Given the description of an element on the screen output the (x, y) to click on. 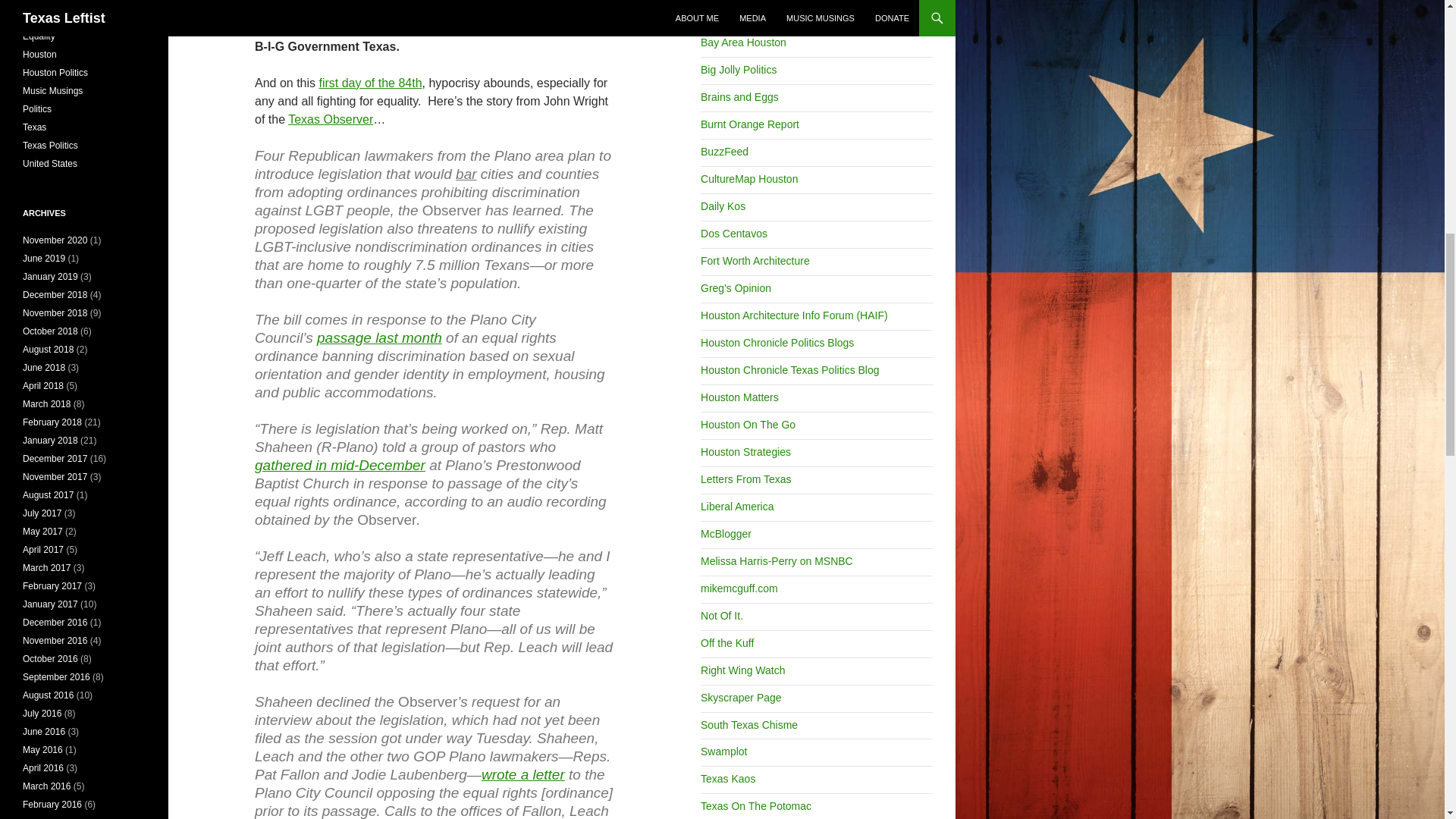
Texas Observer (330, 119)
first day of the 84th (370, 82)
wrote a letter (522, 774)
passage last month (379, 337)
gathered in mid-December (339, 465)
